Given the description of an element on the screen output the (x, y) to click on. 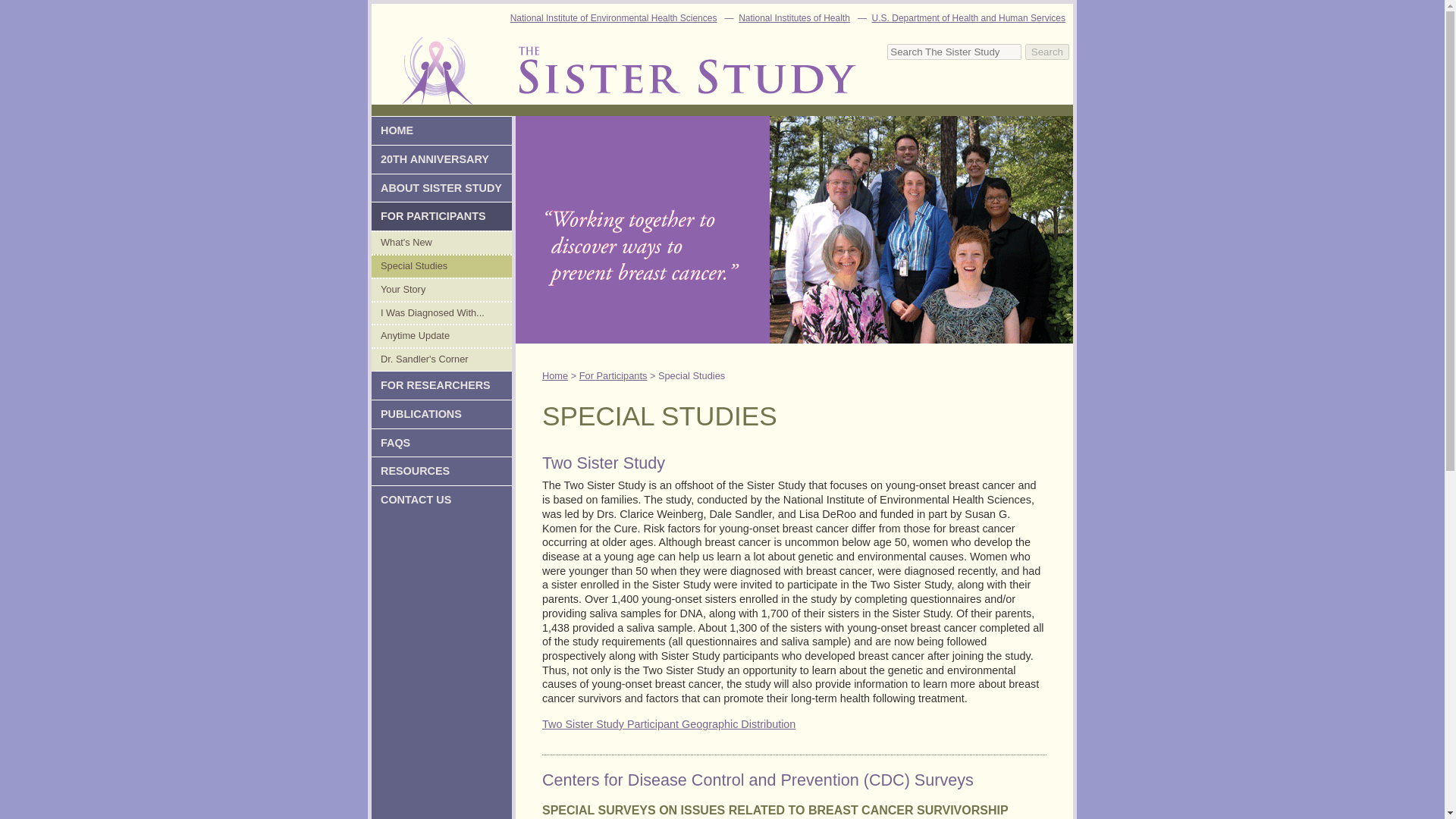
Search (1046, 51)
Your Story (441, 289)
20TH ANNIVERSARY (441, 158)
Home (554, 375)
RESOURCES (441, 470)
For Participants (613, 375)
For Participants (441, 215)
About Sister Study (441, 187)
